Given the description of an element on the screen output the (x, y) to click on. 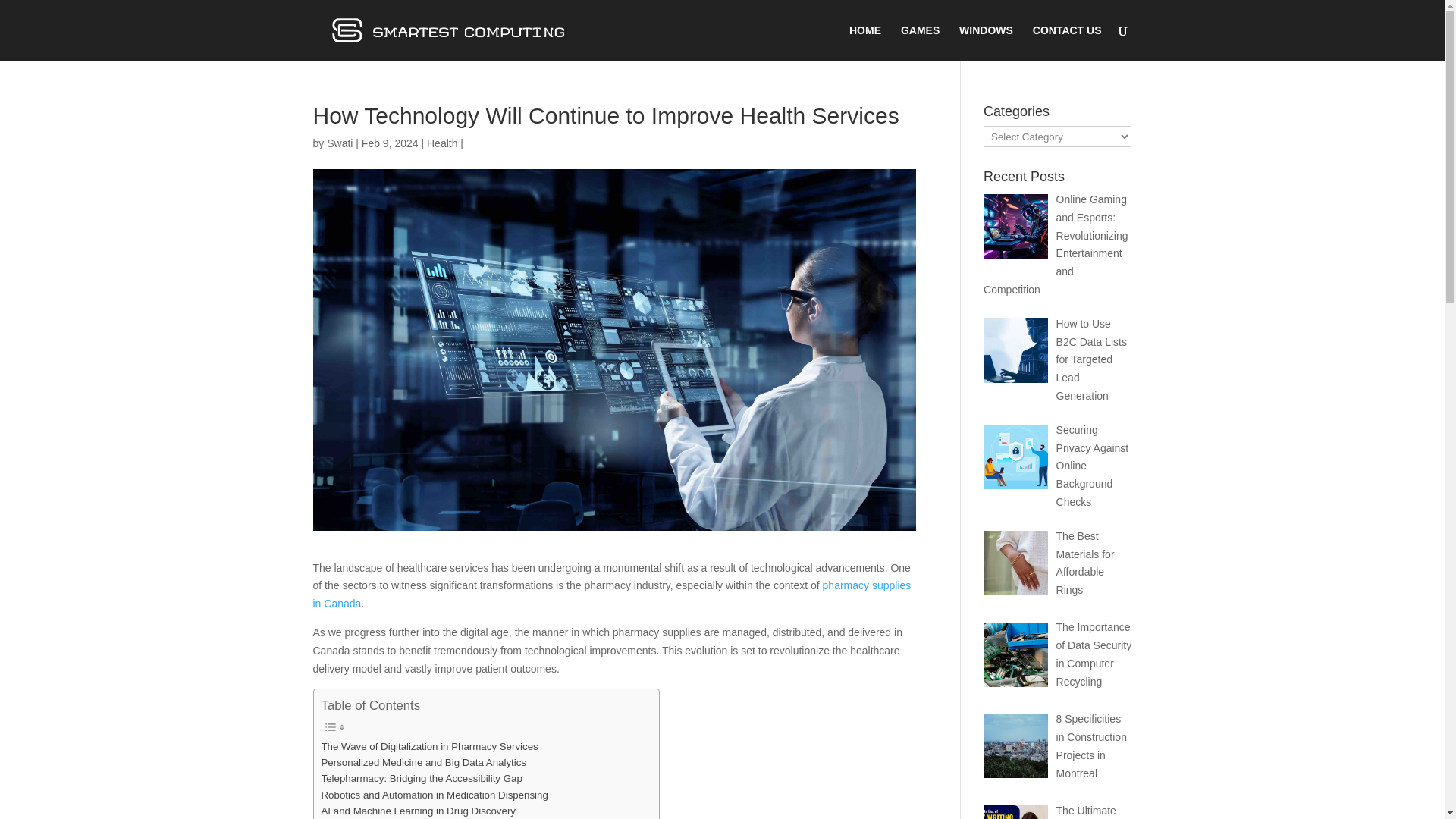
CONTACT US (1067, 42)
Health (441, 143)
The Wave of Digitalization in Pharmacy Services (429, 746)
Personalized Medicine and Big Data Analytics (424, 762)
Personalized Medicine and Big Data Analytics (424, 762)
GAMES (920, 42)
8 Specificities in Construction Projects in Montreal (1091, 745)
The Importance of Data Security in Computer Recycling (1094, 653)
The Wave of Digitalization in Pharmacy Services (429, 746)
